Given the description of an element on the screen output the (x, y) to click on. 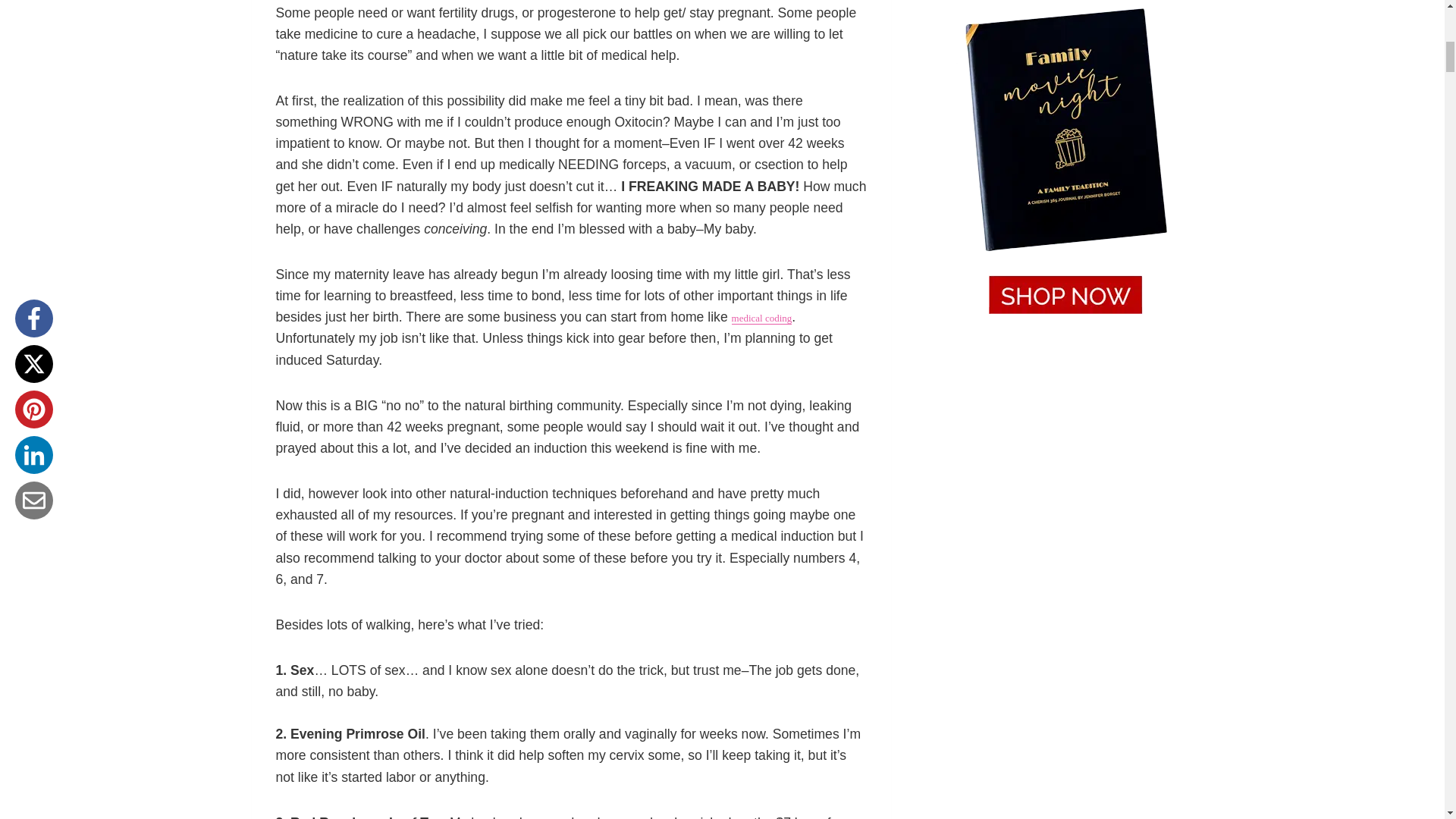
medical coding (762, 316)
